Given the description of an element on the screen output the (x, y) to click on. 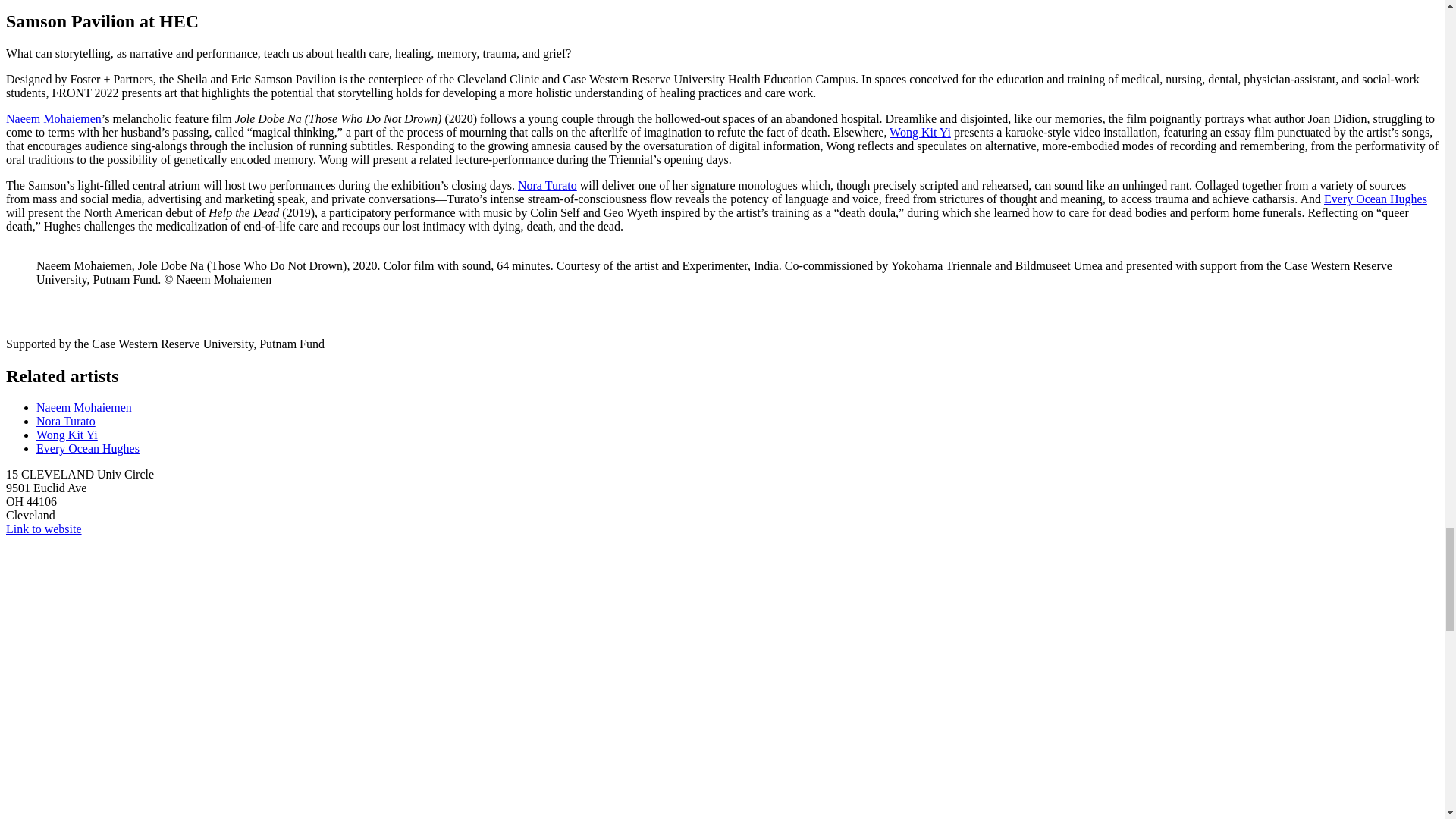
Naeem Mohaiemen (84, 407)
Wong Kit Yi (919, 132)
Every Ocean Hughes (1374, 198)
Naeem Mohaiemen (53, 118)
Nora Turato (547, 185)
Wong Kit Yi (66, 434)
Every Ocean Hughes (87, 448)
Link to website (43, 528)
Nora Turato (66, 420)
